Given the description of an element on the screen output the (x, y) to click on. 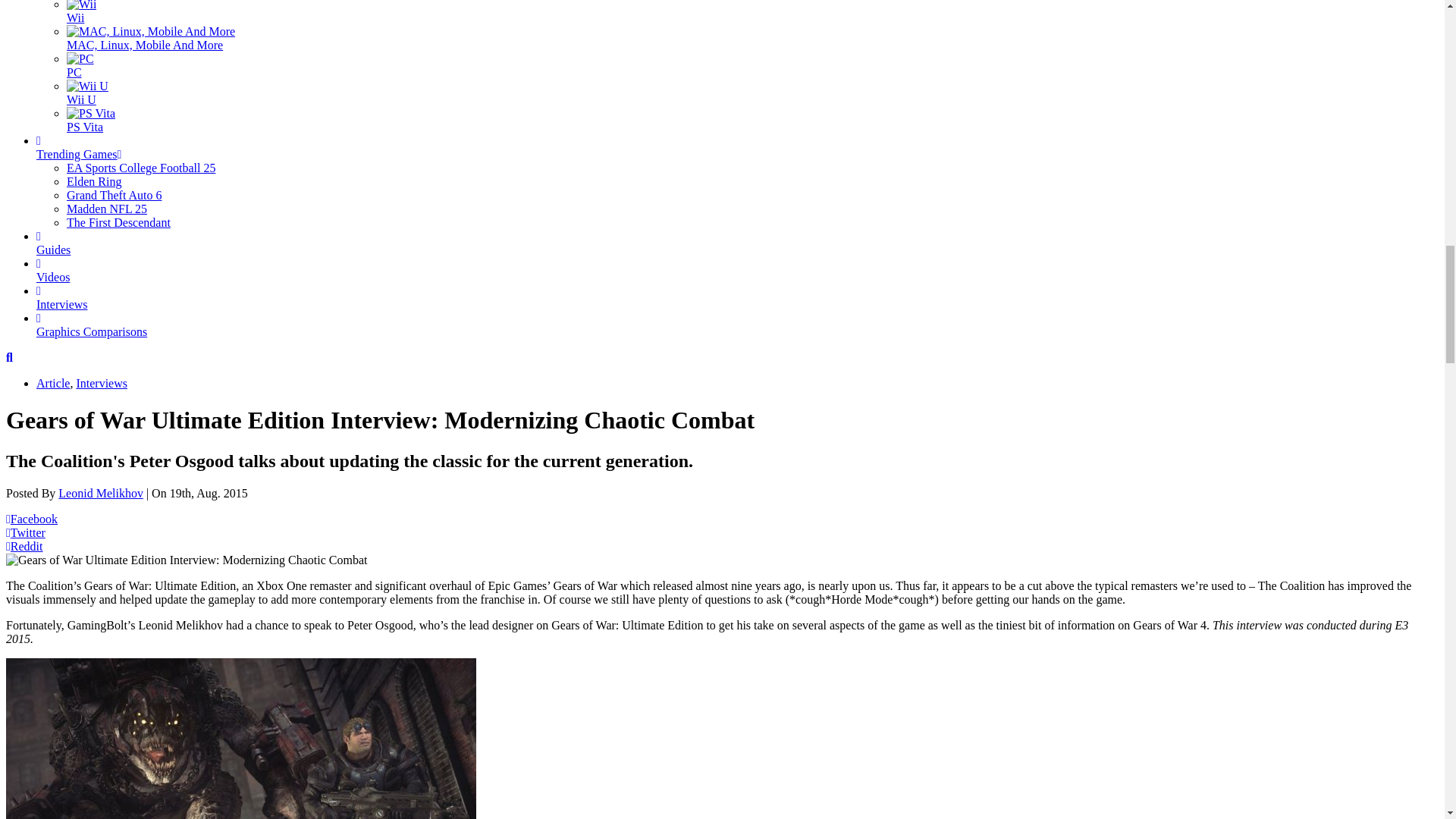
Article (52, 382)
Reddit (24, 545)
Interviews (101, 382)
Leonid Melikhov (100, 492)
Wii (81, 5)
PS Vita (90, 113)
PC (80, 59)
Facebook (31, 518)
Twitter (25, 532)
MAC, Linux, Mobile And More (150, 31)
Wii U (86, 86)
